Given the description of an element on the screen output the (x, y) to click on. 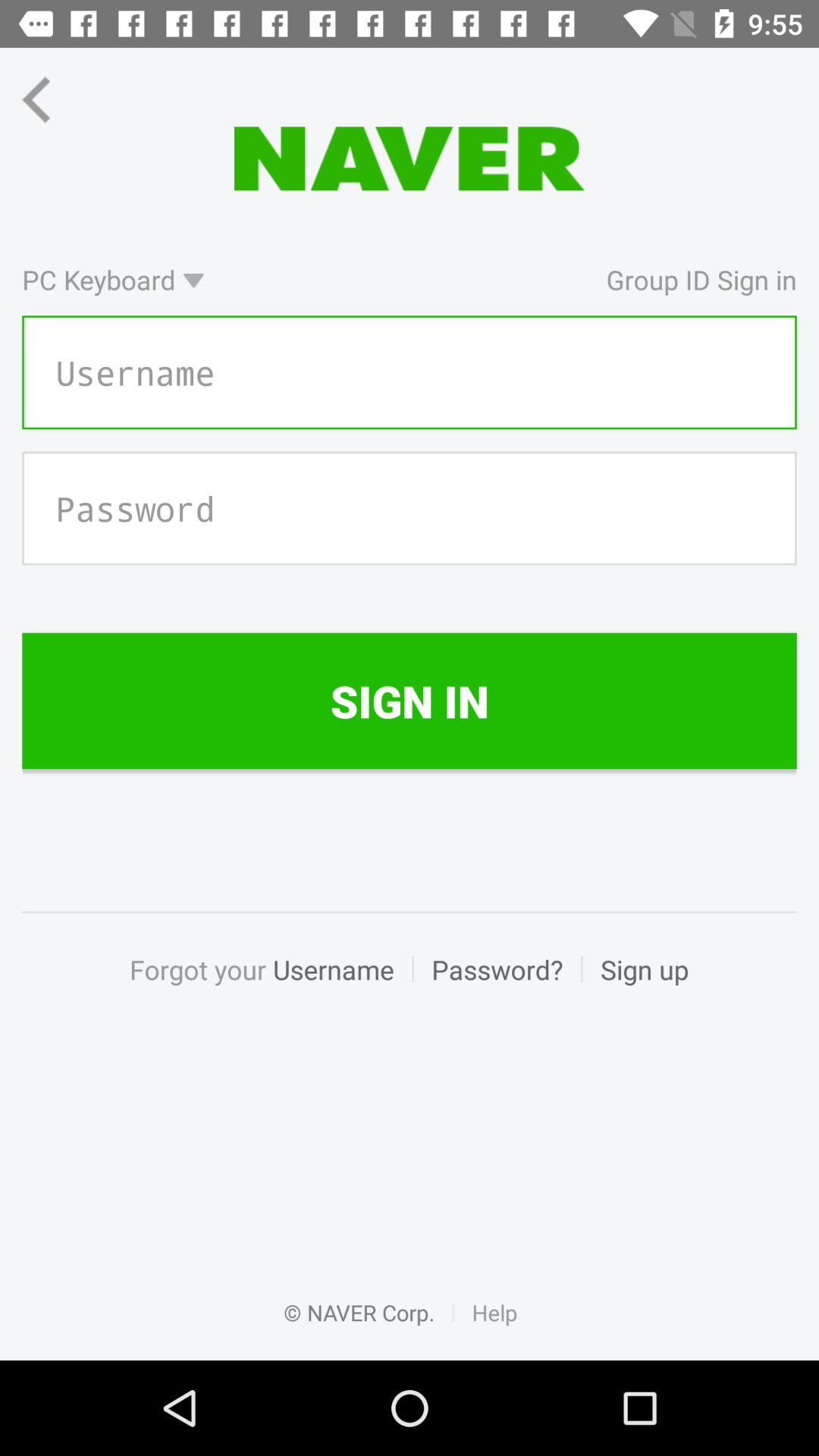
launch the icon above the pc keyboard icon (50, 99)
